Given the description of an element on the screen output the (x, y) to click on. 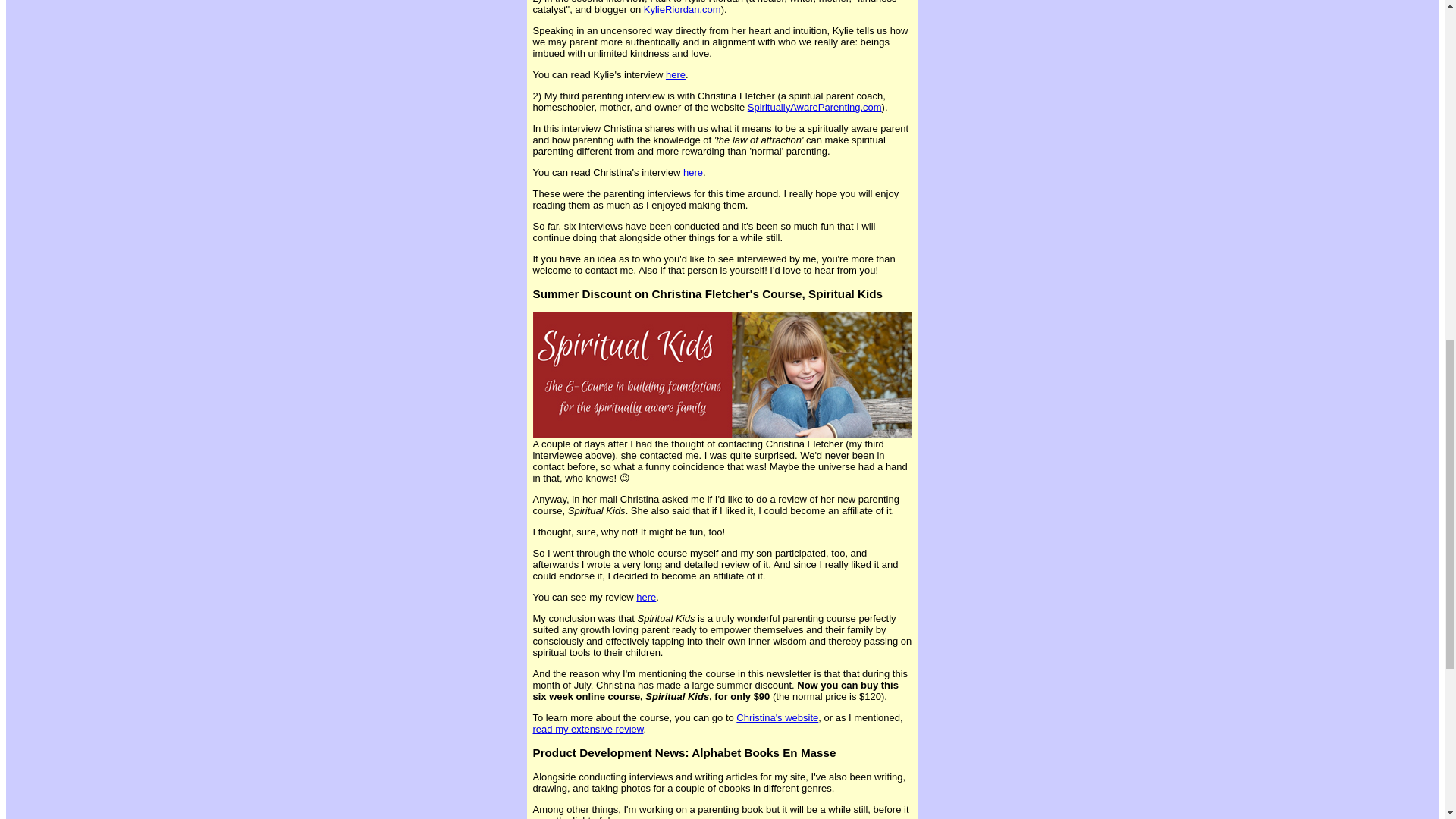
here (646, 596)
SpirituallyAwareParenting.com (815, 107)
Christina's website (777, 717)
here (675, 74)
here (692, 172)
KylieRiordan.com (681, 9)
read my extensive review (587, 728)
